Given the description of an element on the screen output the (x, y) to click on. 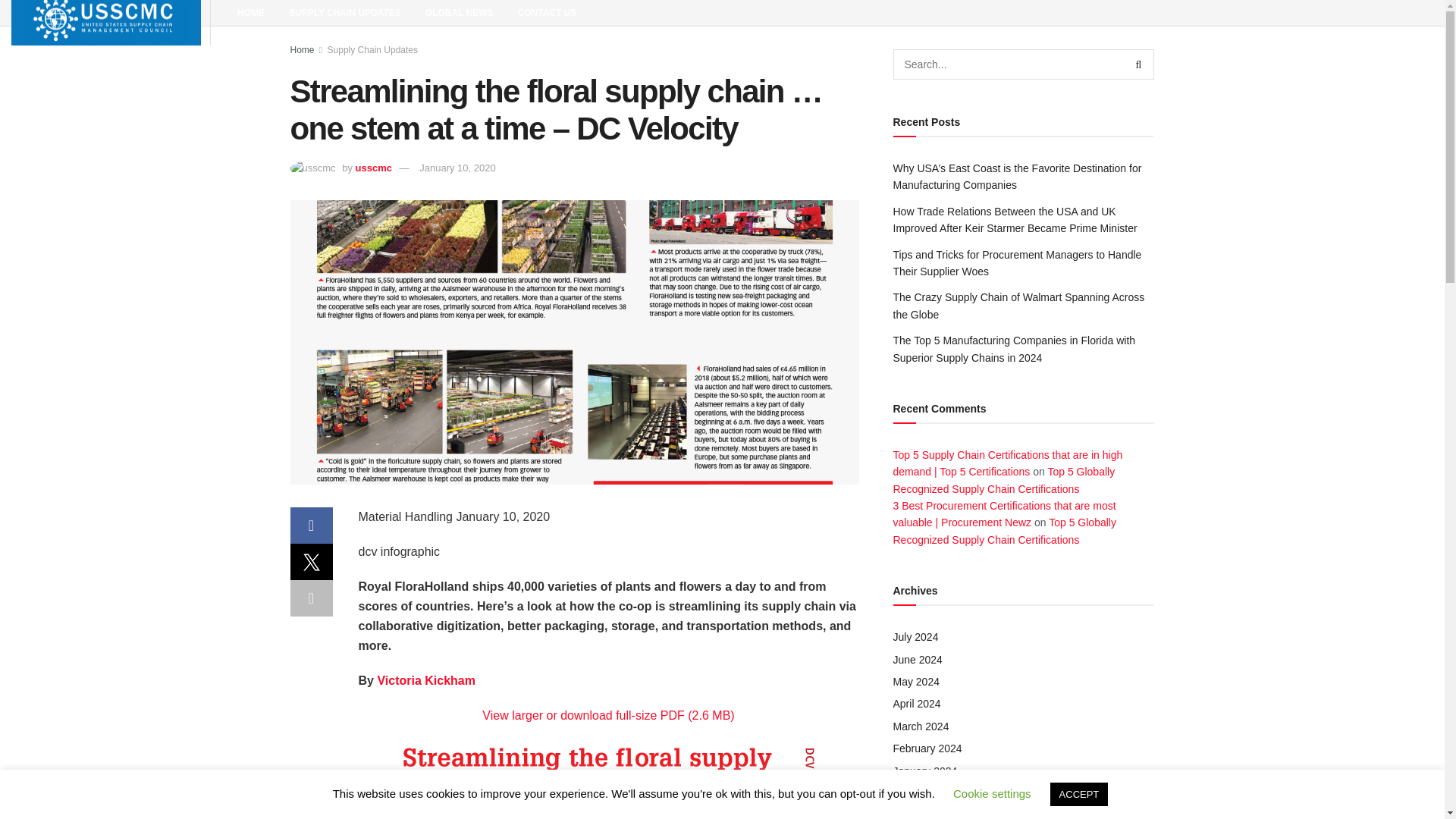
Victoria Kickham (426, 680)
GLOBAL NEWS (459, 12)
Top 5 Globally Recognized Supply Chain Certifications (1004, 480)
SUPPLY CHAIN UPDATES (344, 12)
HOME (250, 12)
The Crazy Supply Chain of Walmart Spanning Across the Globe (1018, 305)
January 10, 2020 (457, 167)
CONTACT US (547, 12)
Home (301, 50)
usscmc (373, 167)
Supply Chain Updates (372, 50)
